Given the description of an element on the screen output the (x, y) to click on. 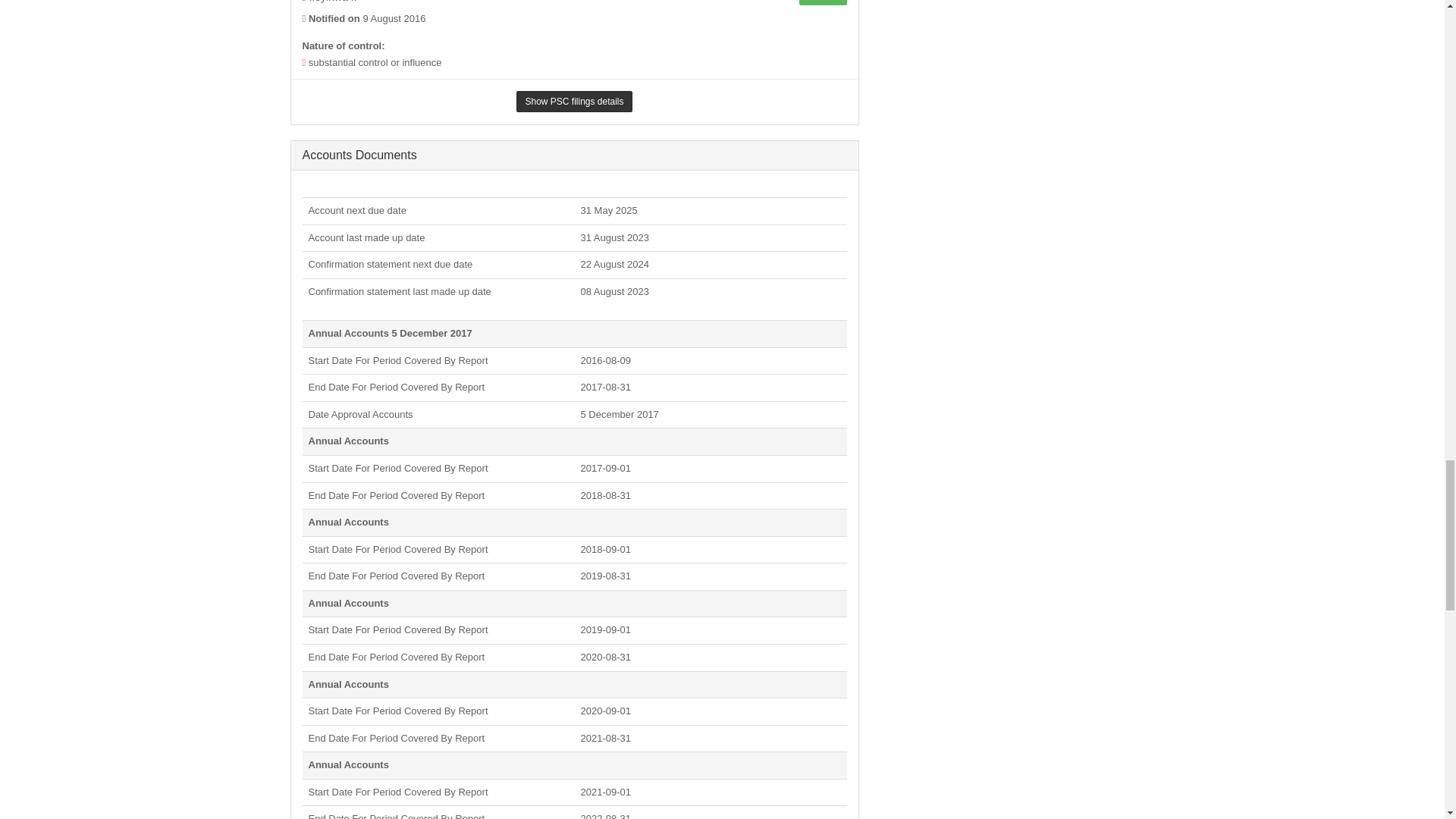
Current (822, 2)
Show PSC filings details (573, 101)
